Given the description of an element on the screen output the (x, y) to click on. 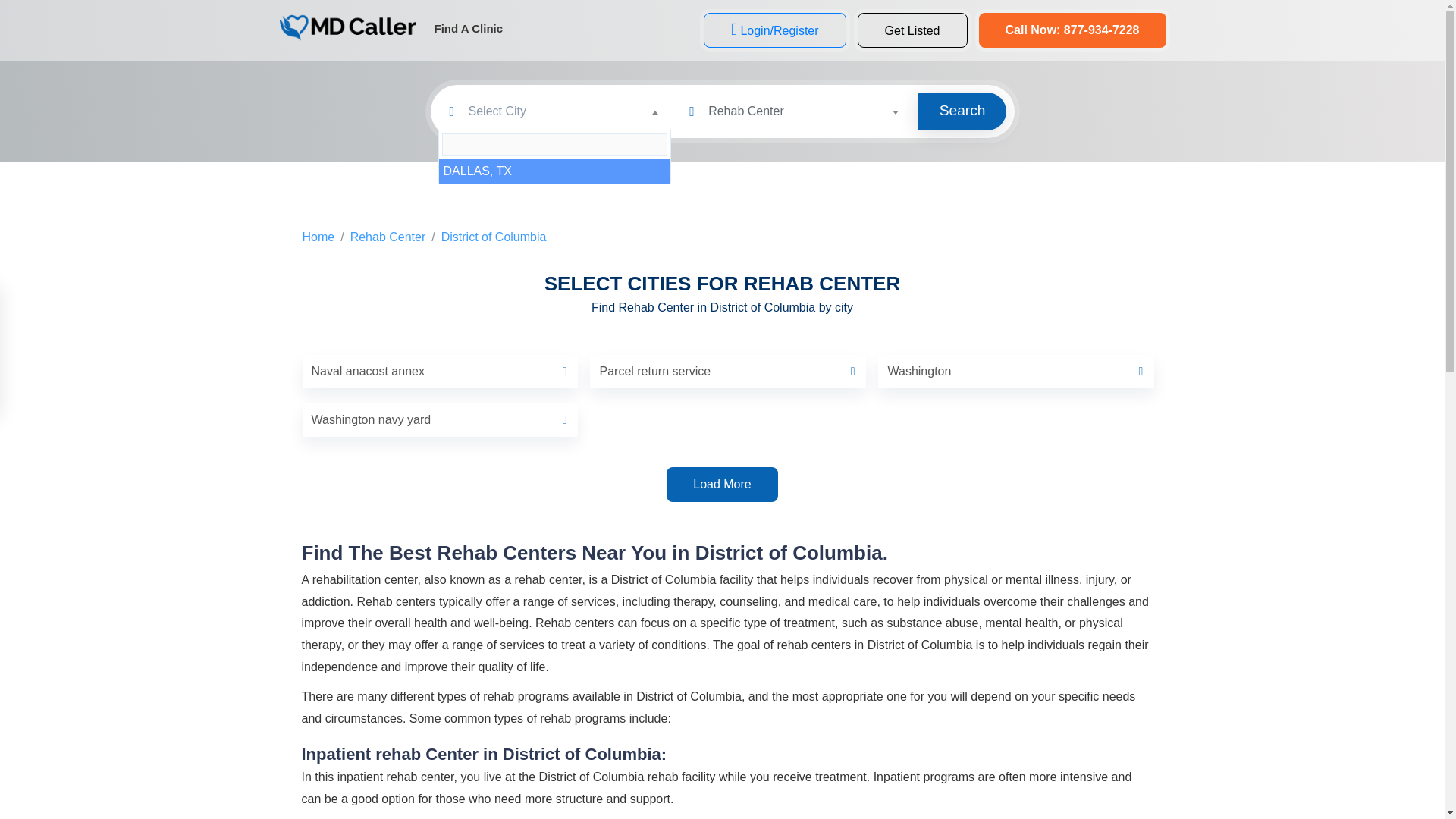
Washington (1015, 371)
Naval anacost annex (439, 371)
Call Now: 877-934-7228 (1072, 30)
Washington navy yard (439, 419)
Get Listed (912, 30)
Search (962, 111)
Rehab Center (388, 236)
Home (317, 236)
District of Columbia (494, 236)
Find A Clinic (468, 28)
Rehab Center (809, 111)
Load More (721, 484)
Parcel return service (727, 371)
